Given the description of an element on the screen output the (x, y) to click on. 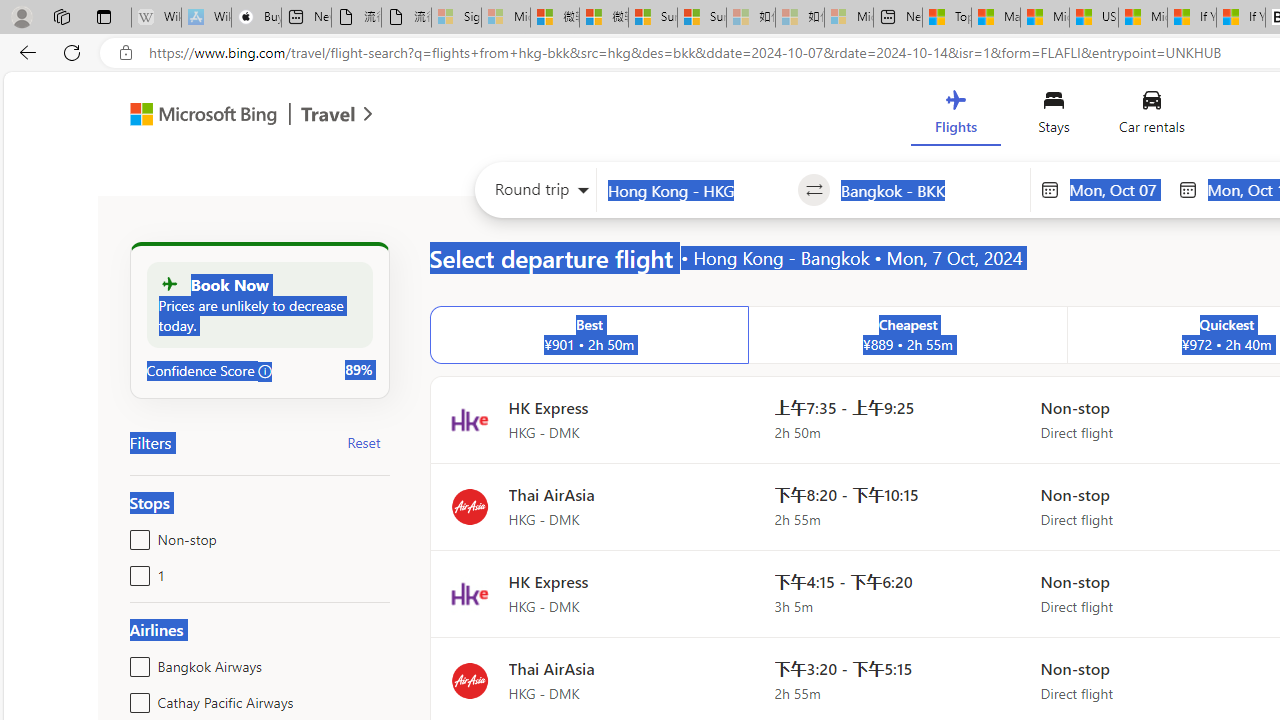
Microsoft Services Agreement - Sleeping (505, 17)
Start Date (1118, 189)
Wikipedia - Sleeping (155, 17)
Going to? (930, 190)
Bangkok Airways (136, 662)
Leaving from? (697, 190)
Class: msft-travel-logo (328, 114)
Stays (1053, 116)
Info tooltip (265, 371)
